Given the description of an element on the screen output the (x, y) to click on. 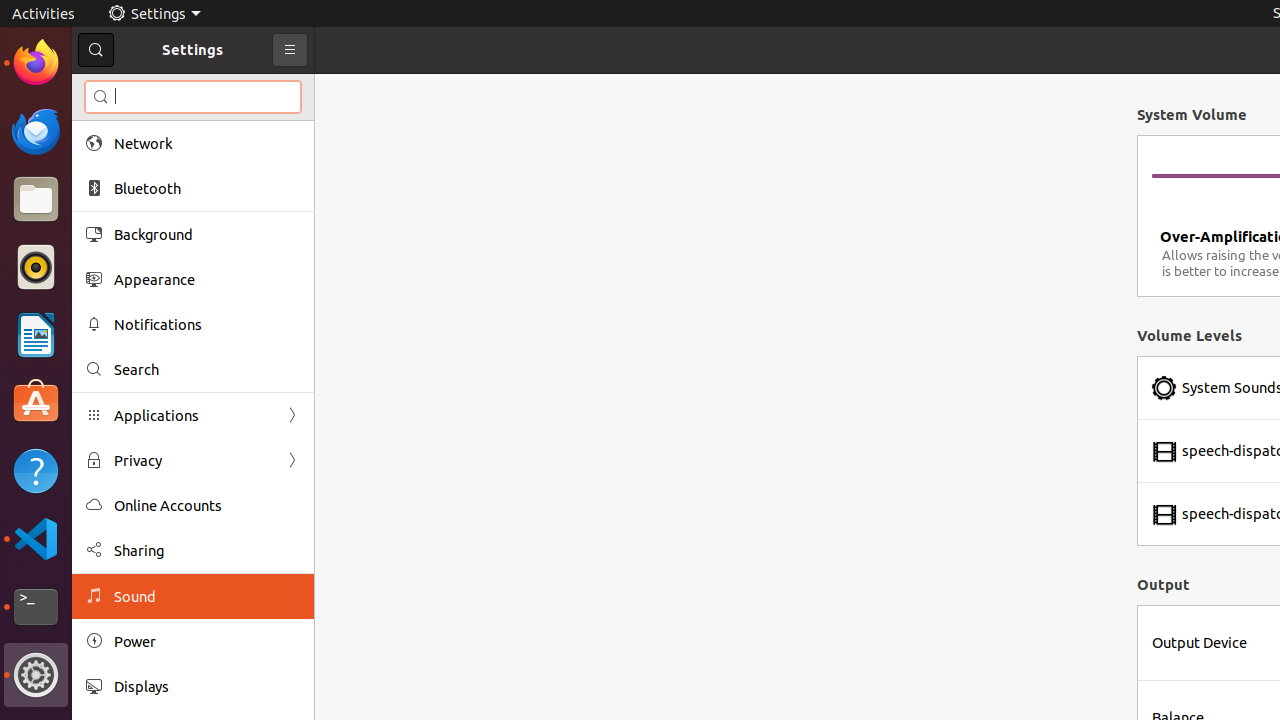
Privacy Element type: label (193, 460)
Notifications Element type: label (207, 324)
edit-find-symbolic Element type: icon (101, 97)
Power Element type: label (207, 641)
Appearance Element type: label (207, 279)
